Given the description of an element on the screen output the (x, y) to click on. 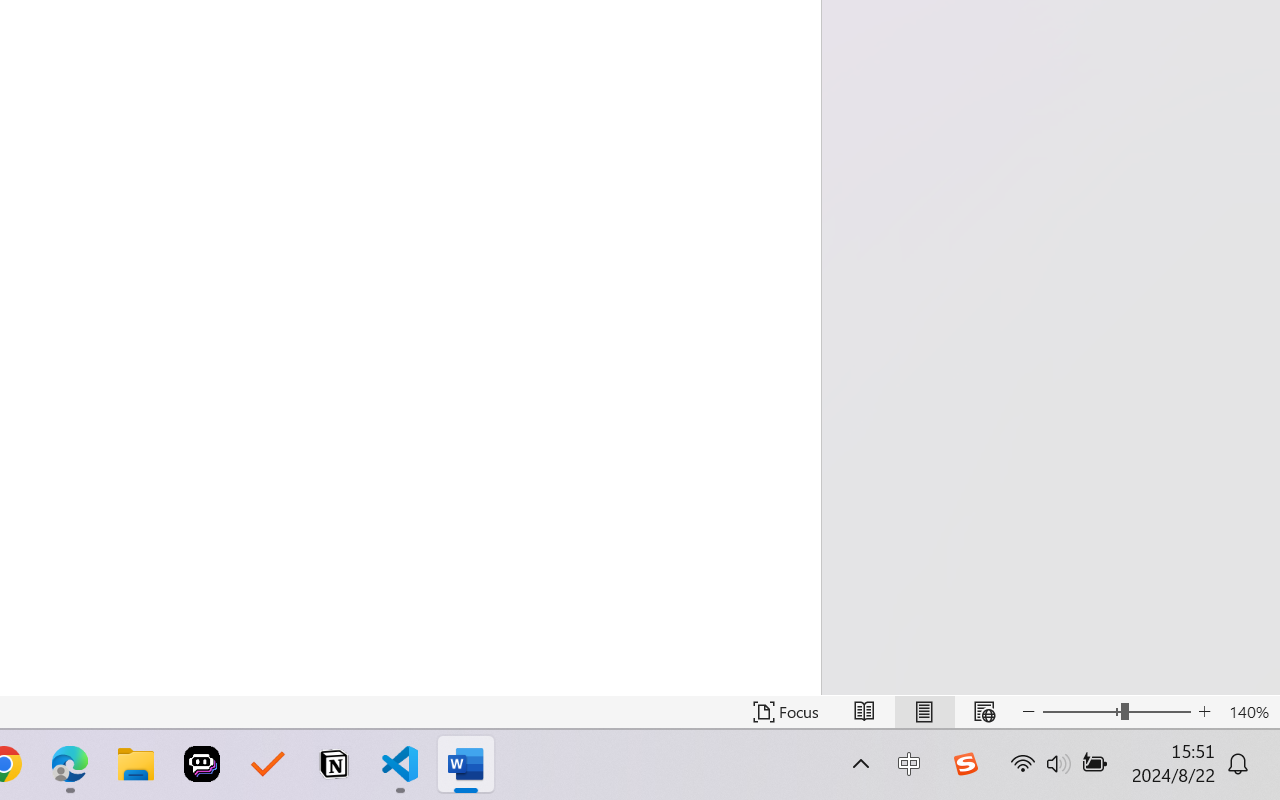
Zoom Out (1081, 712)
Zoom 140% (1249, 712)
Class: Image (965, 764)
Zoom (1116, 712)
Zoom In (1204, 712)
Web Layout (984, 712)
Focus  (786, 712)
Print Layout (924, 712)
Read Mode (864, 712)
